Given the description of an element on the screen output the (x, y) to click on. 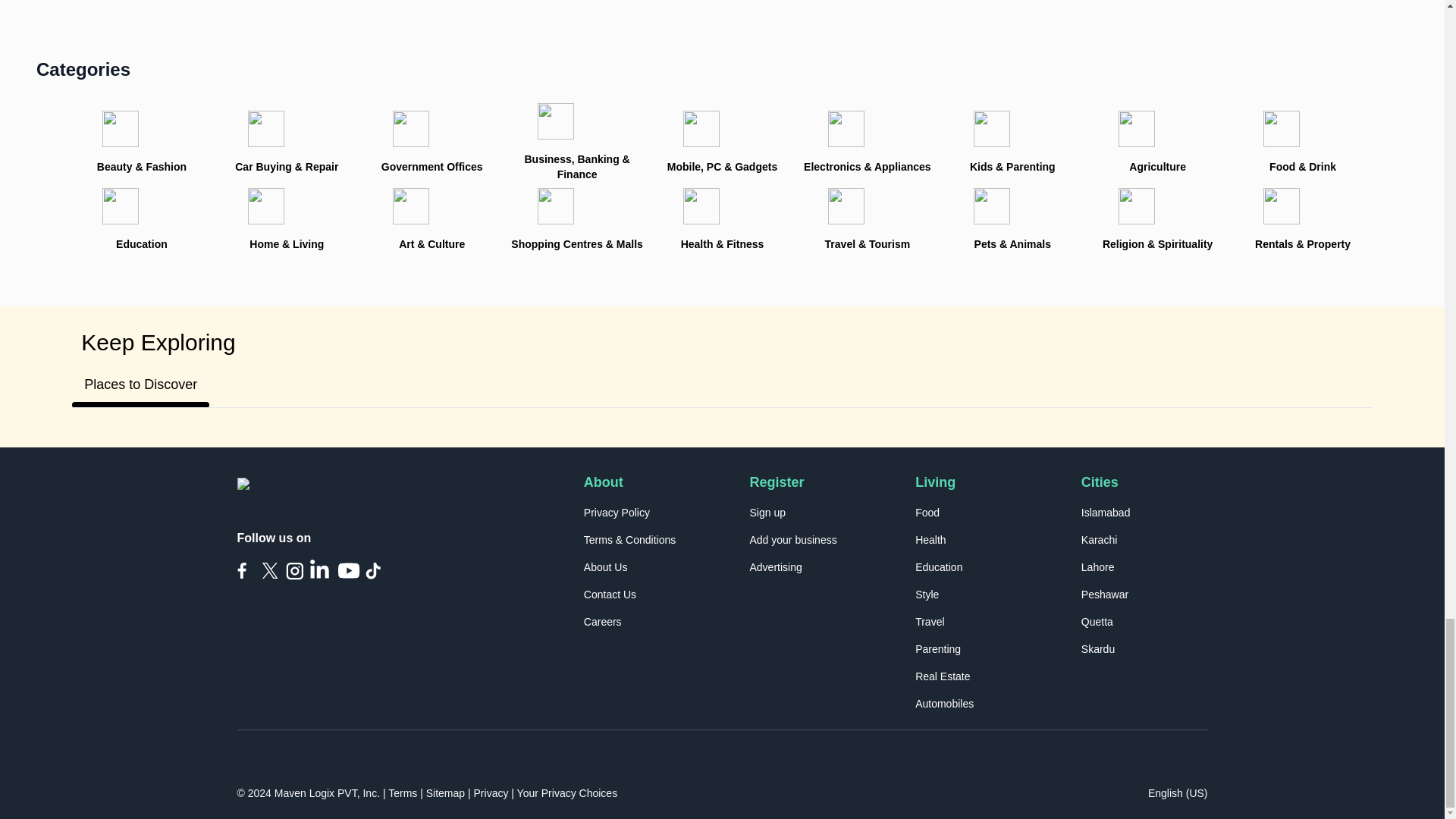
Education (141, 219)
Government Offices (431, 142)
Places to Discover (722, 384)
Agriculture (1157, 142)
Places to Discover (140, 384)
